Given the description of an element on the screen output the (x, y) to click on. 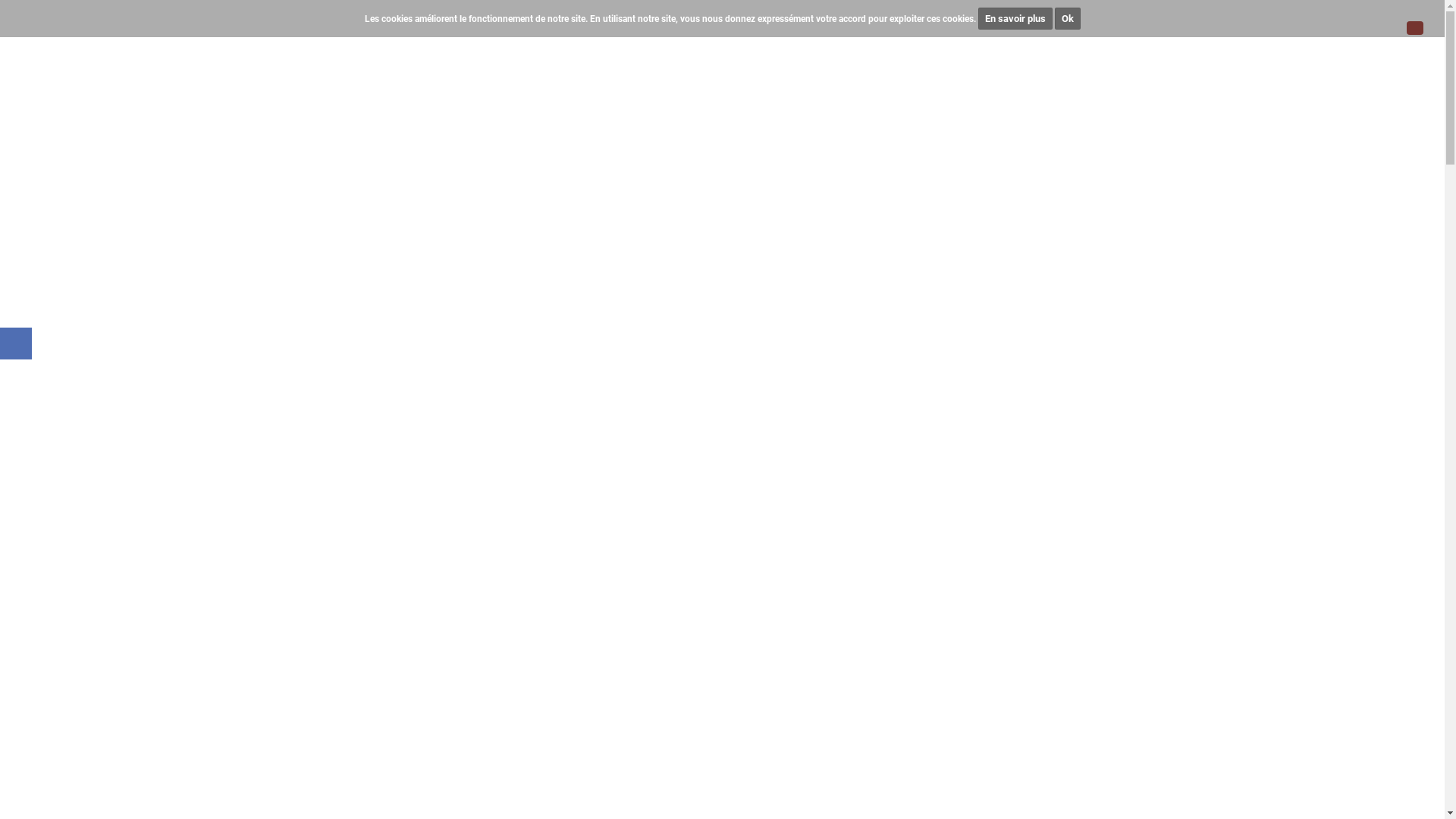
En savoir plus Element type: text (1015, 18)
Ok Element type: text (1066, 18)
Page Facebook de 13 Immo Element type: hover (15, 343)
